Given the description of an element on the screen output the (x, y) to click on. 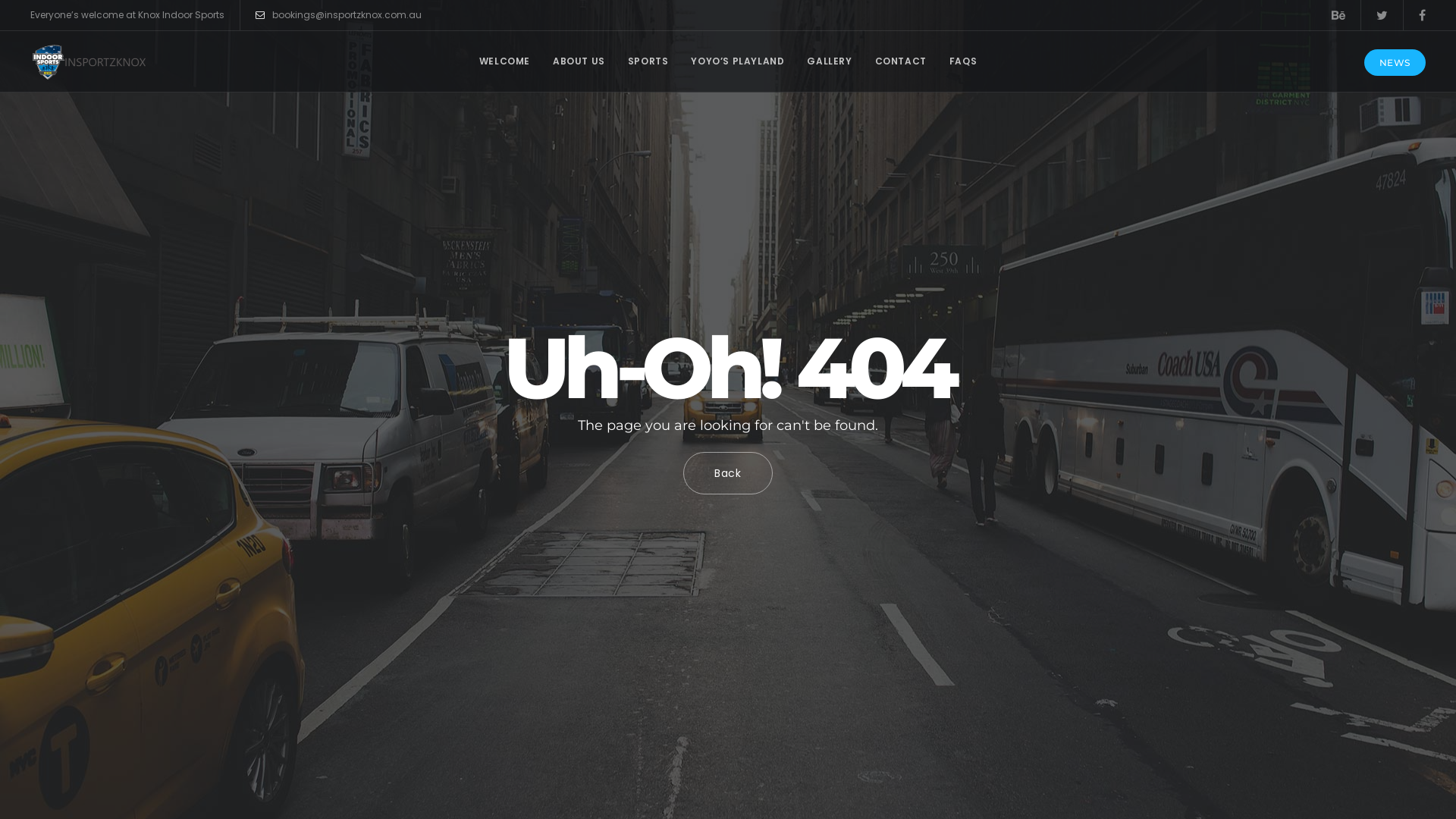
WELCOME Element type: text (504, 61)
ABOUT US Element type: text (578, 61)
Back Element type: text (727, 472)
SPORTS Element type: text (647, 61)
CONTACT Element type: text (900, 61)
bookings@insportzknox.com.au Element type: text (338, 15)
FAQS Element type: text (962, 61)
GALLERY Element type: text (828, 61)
NEWS Element type: text (1394, 62)
